Given the description of an element on the screen output the (x, y) to click on. 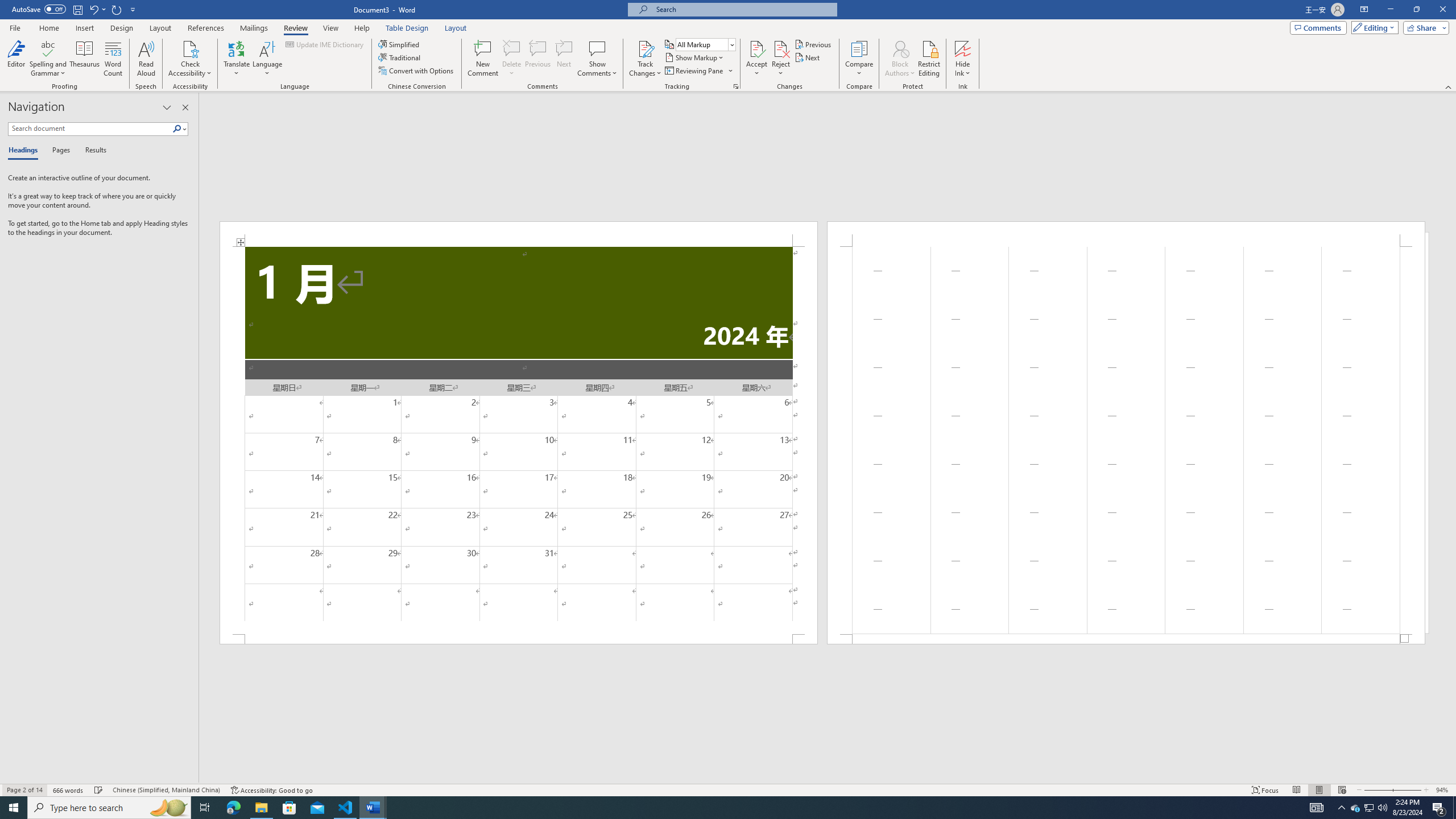
Page 2 content (1126, 439)
Check Accessibility (189, 58)
Spelling and Grammar (48, 48)
Compare (859, 58)
Delete (511, 58)
